Given the description of an element on the screen output the (x, y) to click on. 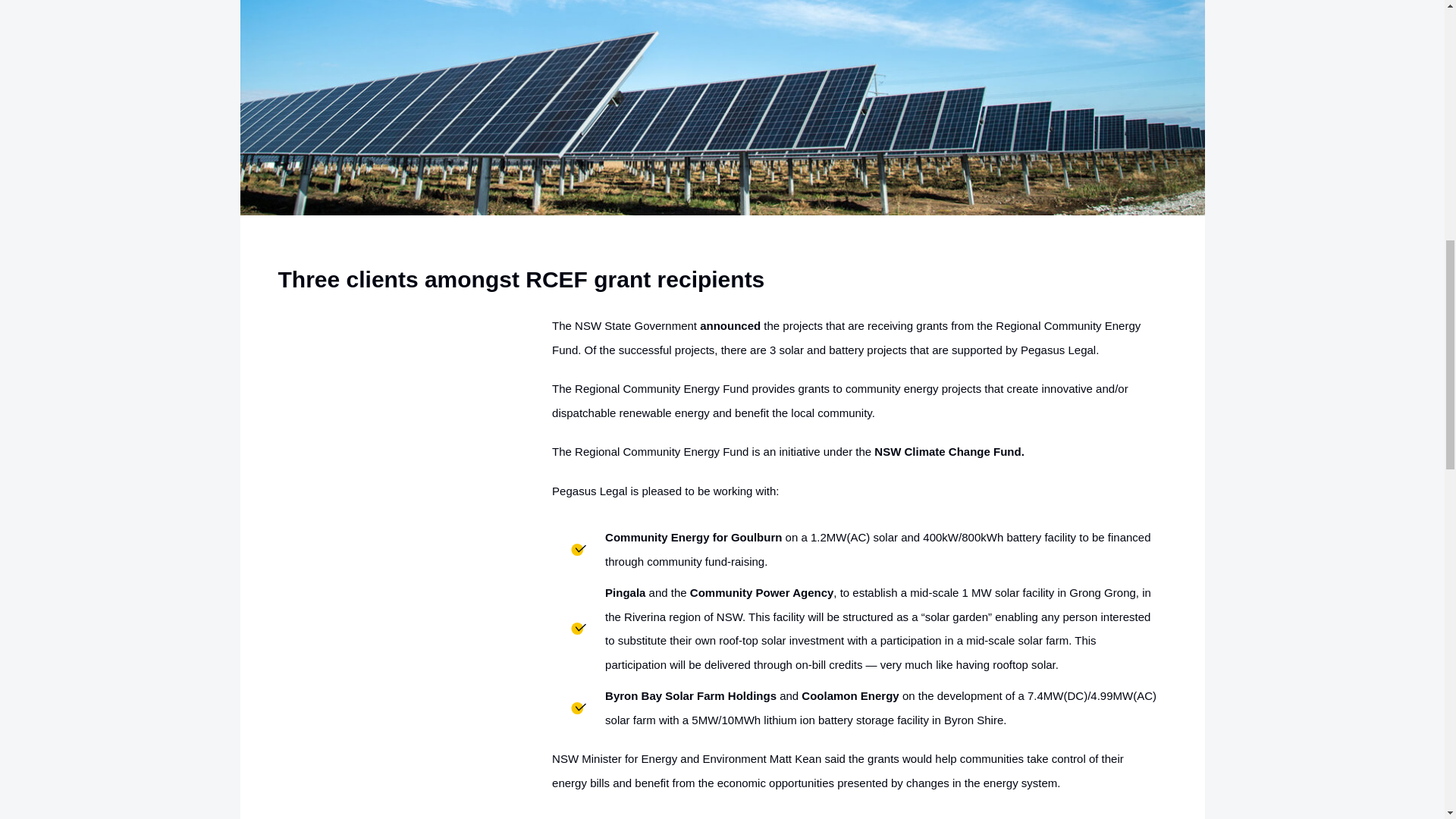
announced (730, 325)
NSW Climate Change Fund. (950, 451)
